Given the description of an element on the screen output the (x, y) to click on. 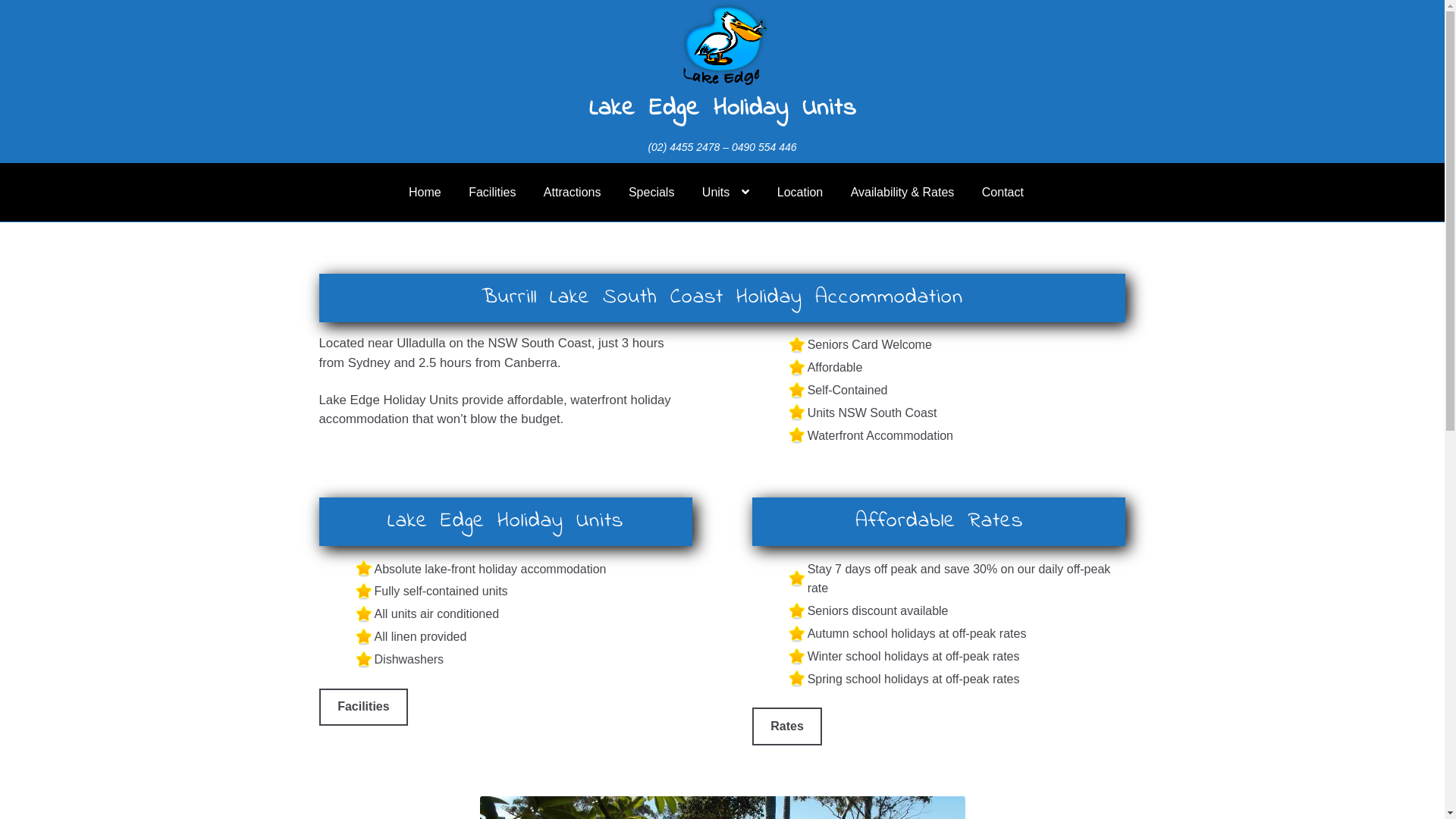
Facilities Element type: text (363, 707)
Contact Element type: text (1002, 192)
Attractions Element type: text (572, 192)
Specials Element type: text (651, 192)
Availability & Rates Element type: text (902, 192)
Lake Edge Holiday Units Element type: text (721, 108)
Facilities Element type: text (491, 192)
Location Element type: text (800, 192)
Units Element type: text (725, 192)
Rates Element type: text (787, 726)
Home Element type: text (424, 192)
